Given the description of an element on the screen output the (x, y) to click on. 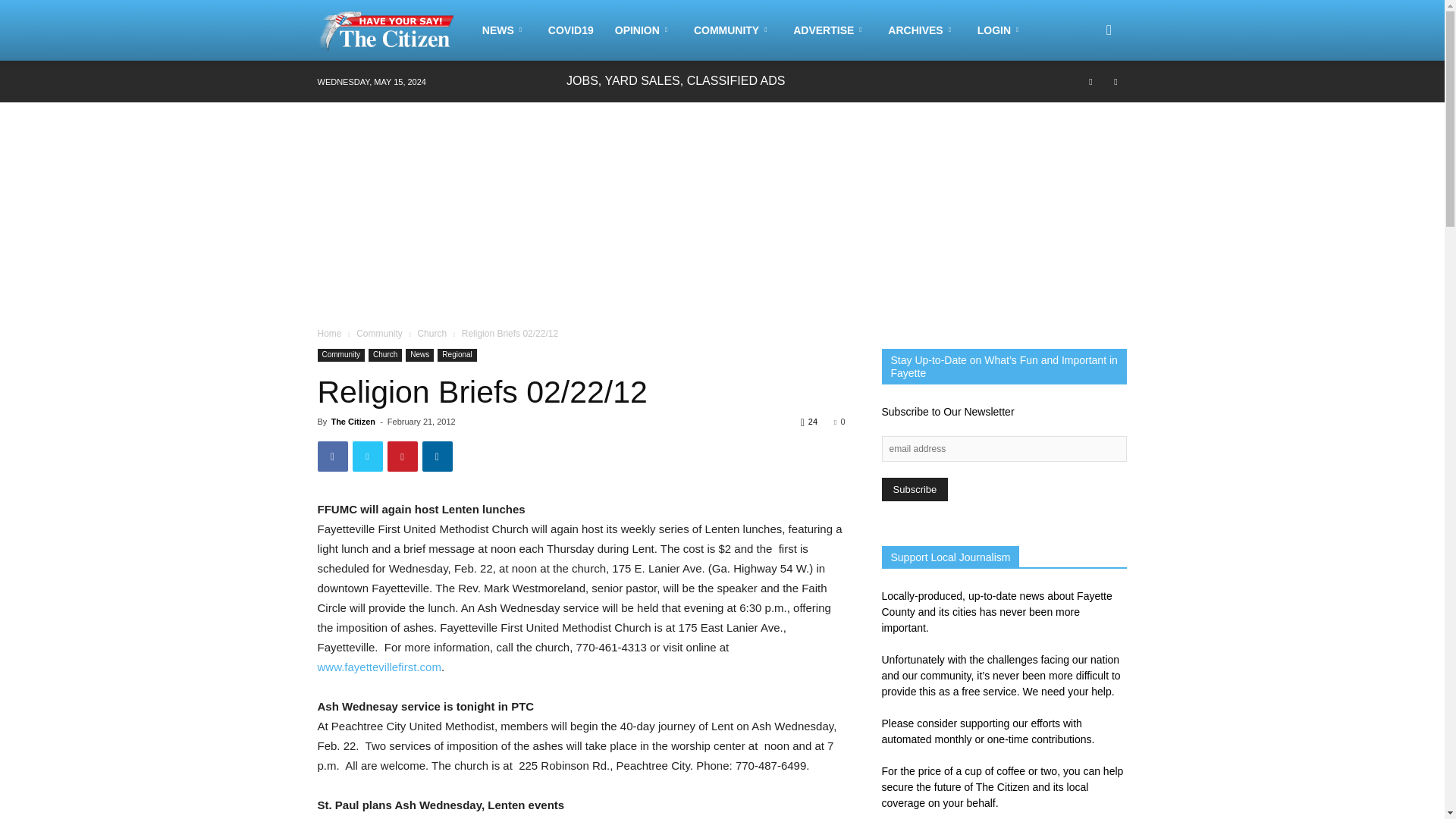
View all posts in Church (431, 333)
View all posts in Community (379, 333)
www.fayettevillefirst.com (379, 666)
Subscribe (913, 489)
